Given the description of an element on the screen output the (x, y) to click on. 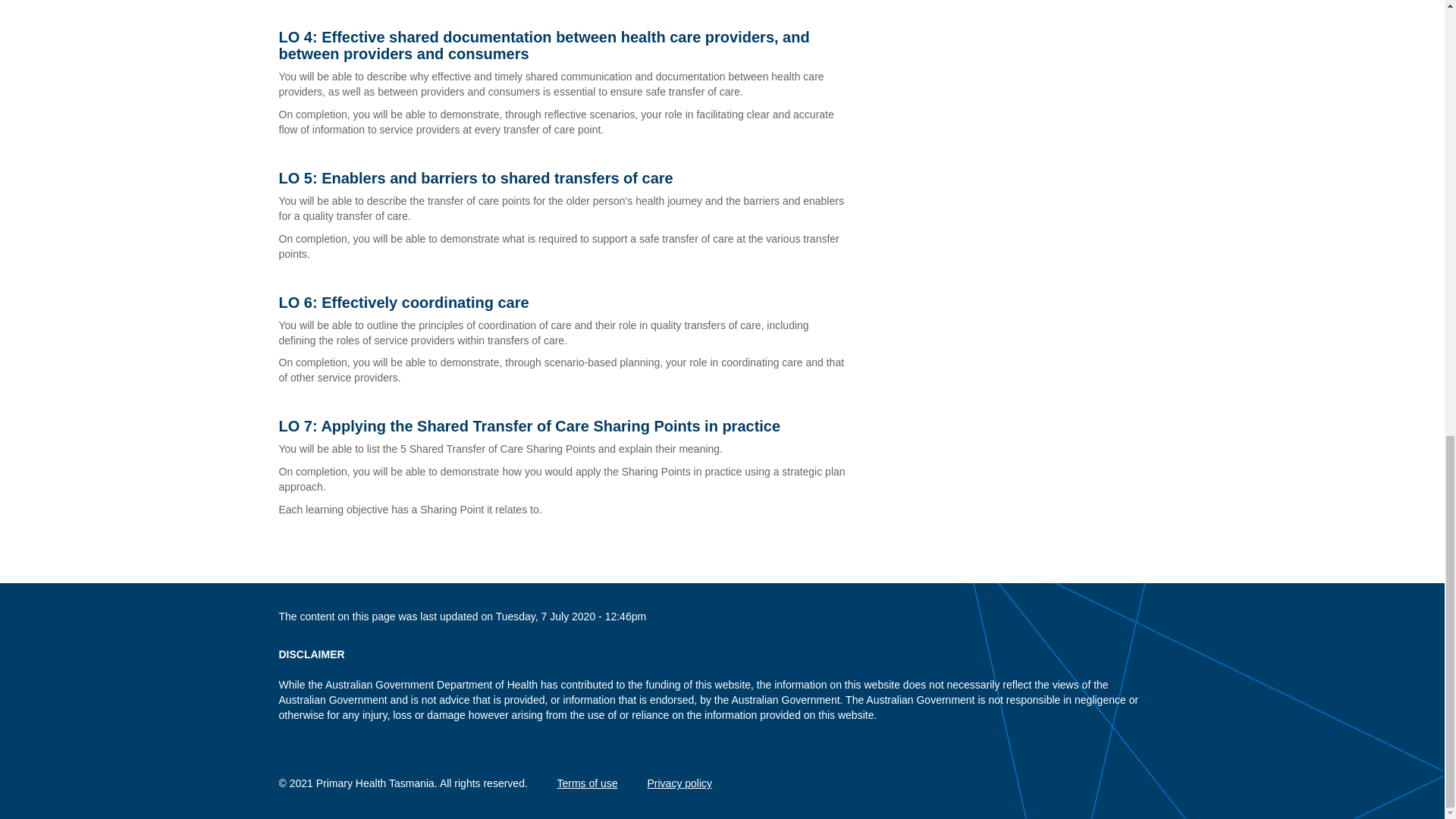
Privacy policy (680, 783)
Terms of use (586, 783)
